Given the description of an element on the screen output the (x, y) to click on. 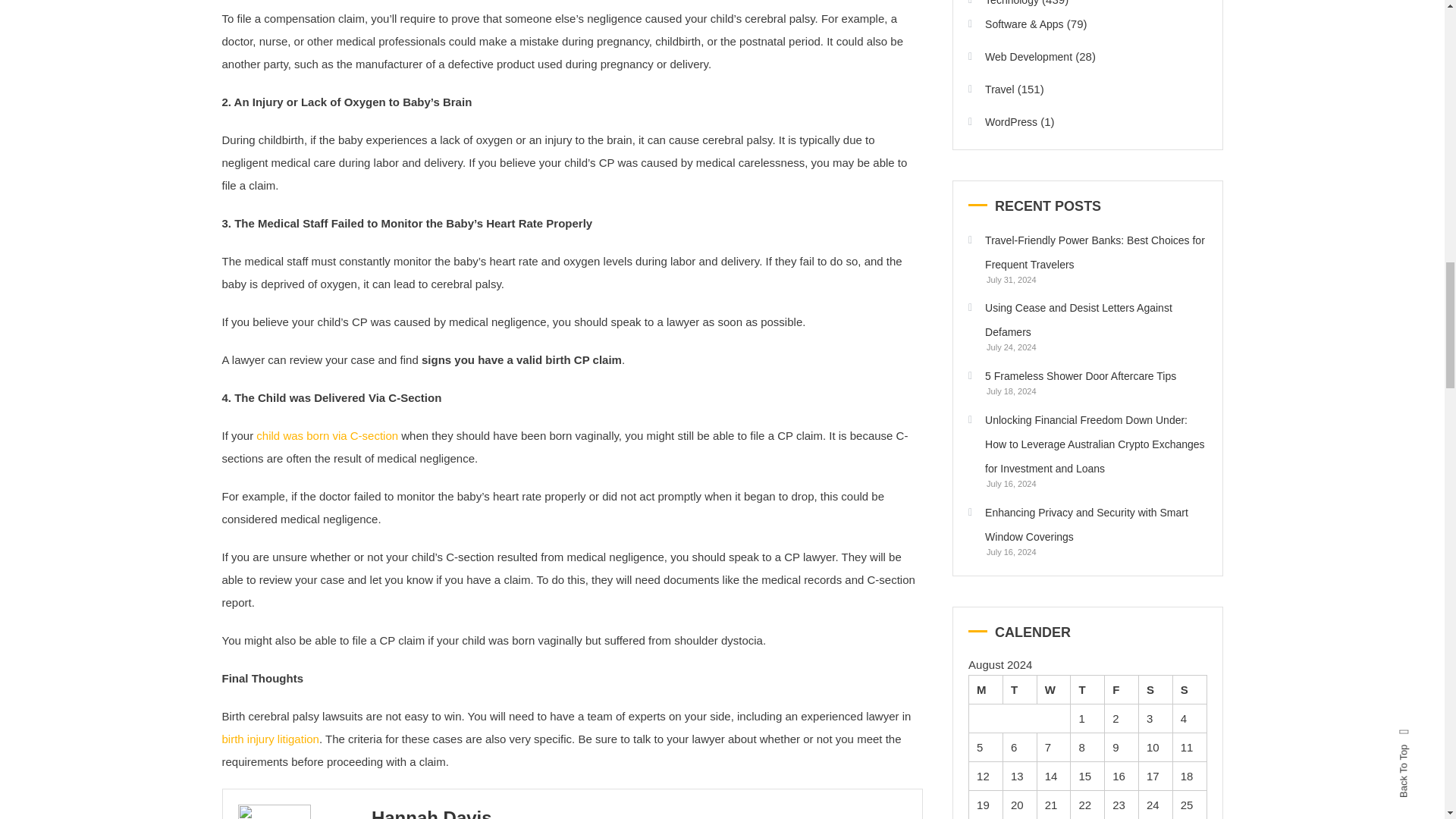
Monday (986, 688)
Friday (1121, 688)
Sunday (1189, 688)
Wednesday (1053, 688)
Saturday (1155, 688)
Tuesday (1019, 688)
Thursday (1087, 688)
Posts by Hannah Davis (431, 813)
